Given the description of an element on the screen output the (x, y) to click on. 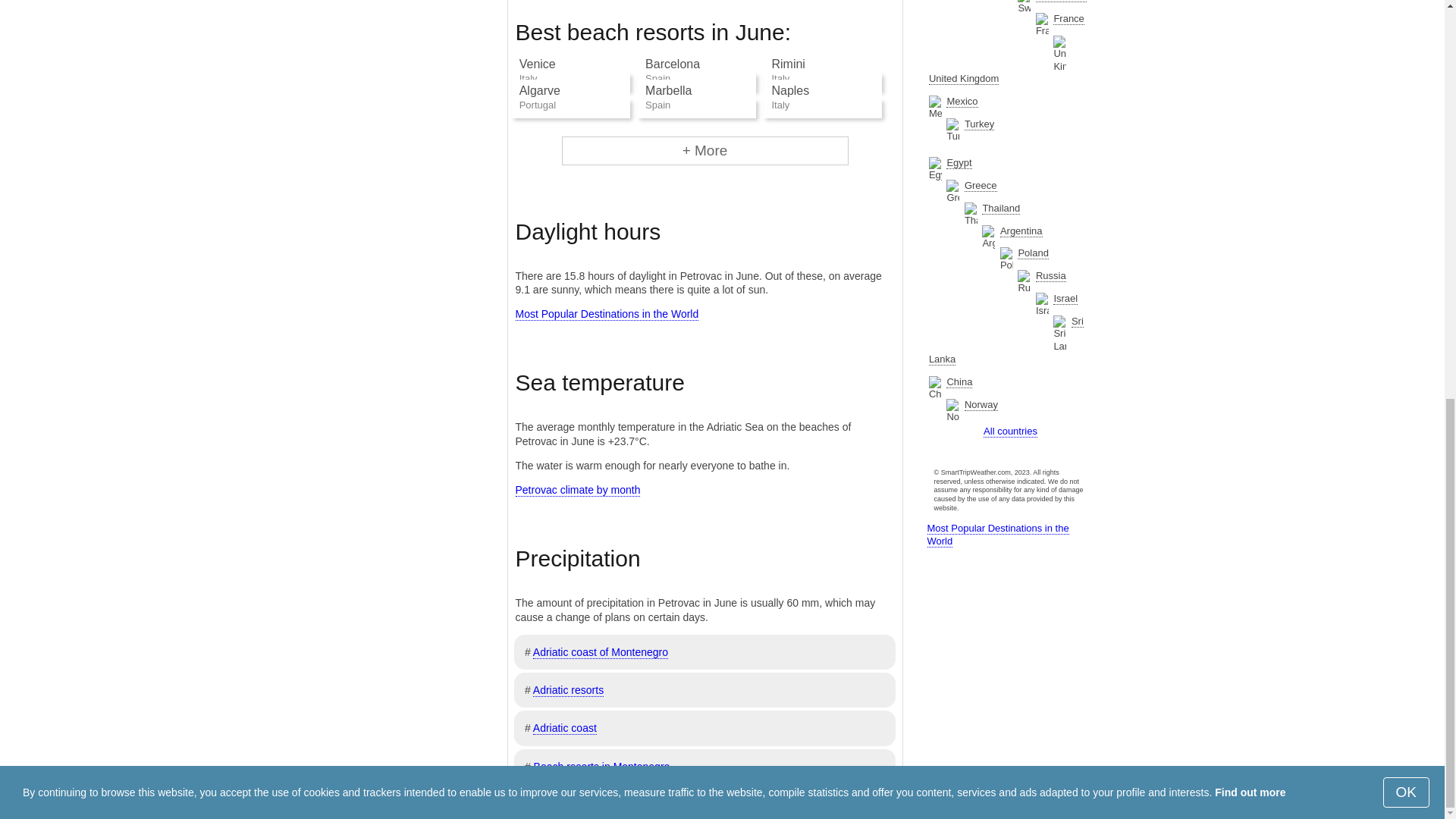
Algarve (539, 90)
Rimini (788, 63)
OK (1406, 16)
Naples (790, 90)
Most Popular Destinations in the World (606, 314)
Venice (537, 63)
Barcelona (672, 63)
Mexico (961, 101)
France (1067, 19)
United Kingdom (963, 78)
Switzerland (1060, 1)
Find out more (1249, 16)
Turkey (978, 123)
Marbella (668, 90)
